Given the description of an element on the screen output the (x, y) to click on. 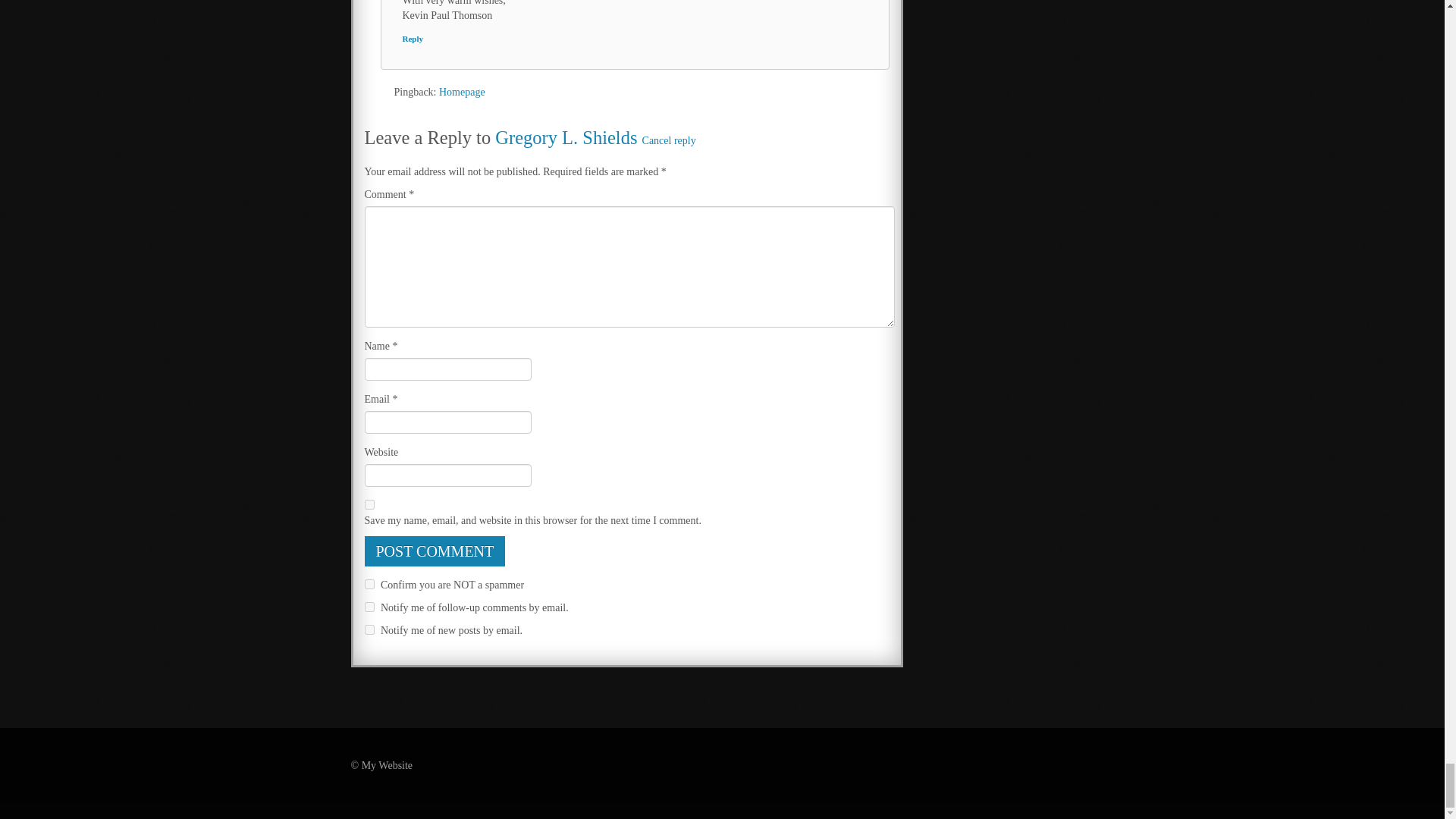
subscribe (369, 606)
yes (369, 504)
on (369, 583)
Post Comment (434, 551)
subscribe (369, 629)
